Given the description of an element on the screen output the (x, y) to click on. 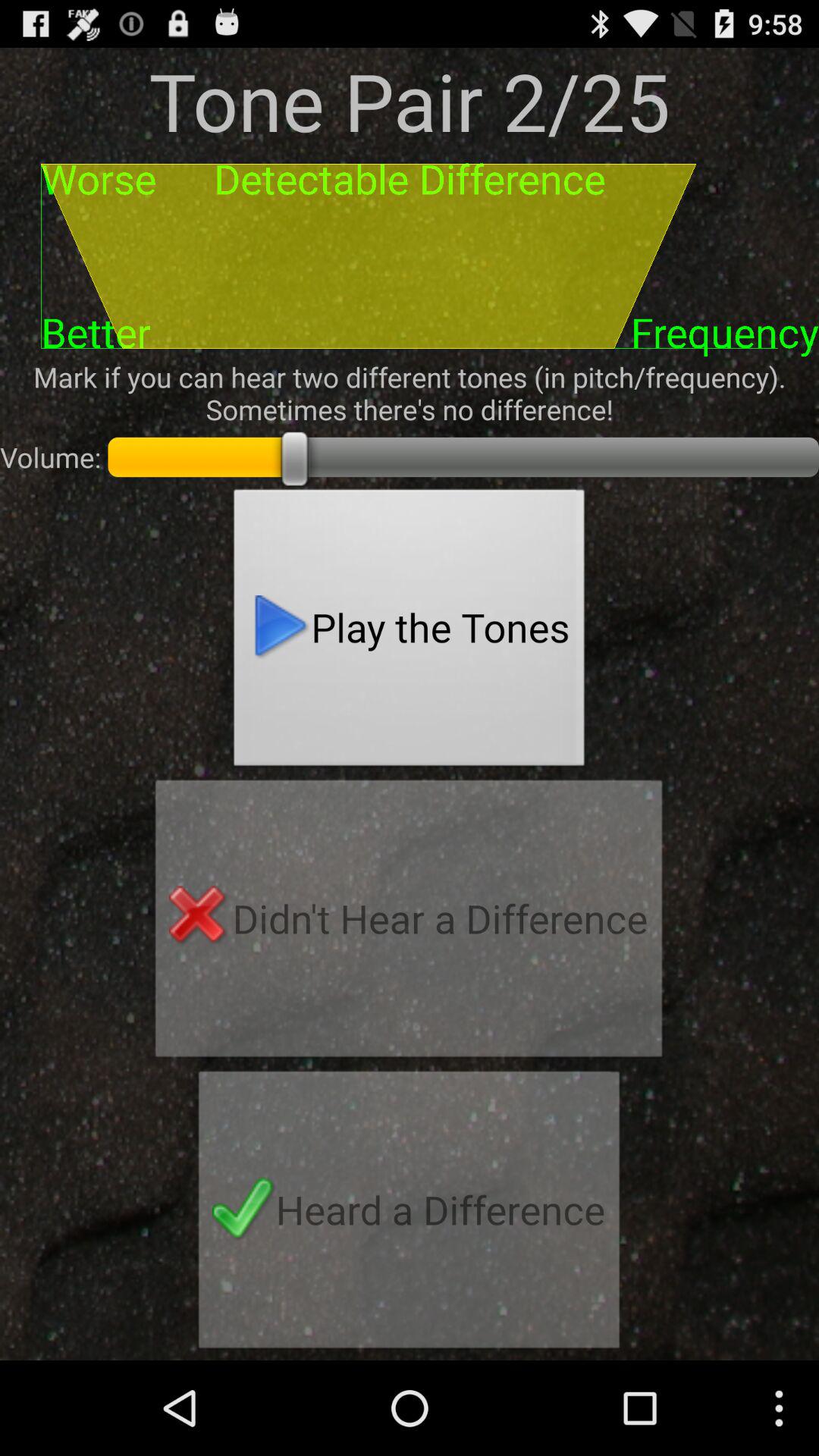
click the play the tones icon (409, 631)
